Given the description of an element on the screen output the (x, y) to click on. 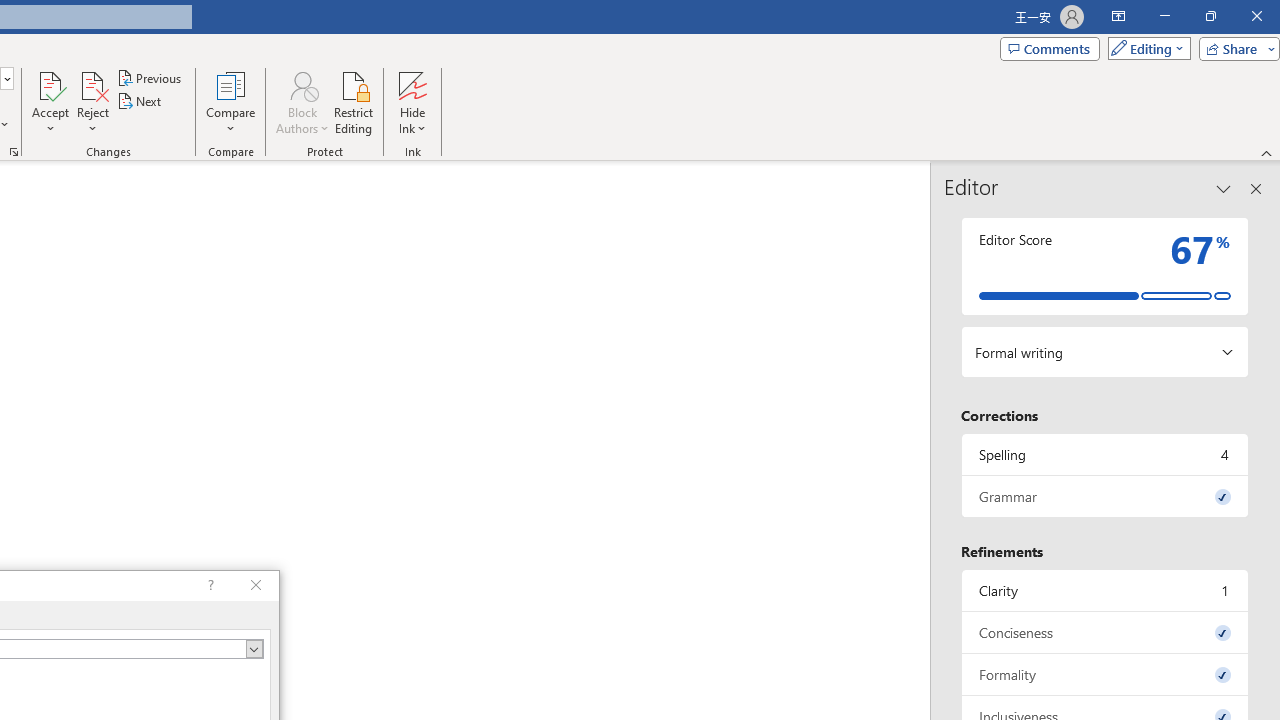
Change Tracking Options... (13, 151)
Grammar, 0 issues. Press space or enter to review items. (1105, 495)
Conciseness, 0 issues. Press space or enter to review items. (1105, 632)
Restrict Editing (353, 102)
Reject (92, 102)
Accept (50, 102)
Hide Ink (412, 84)
